Given the description of an element on the screen output the (x, y) to click on. 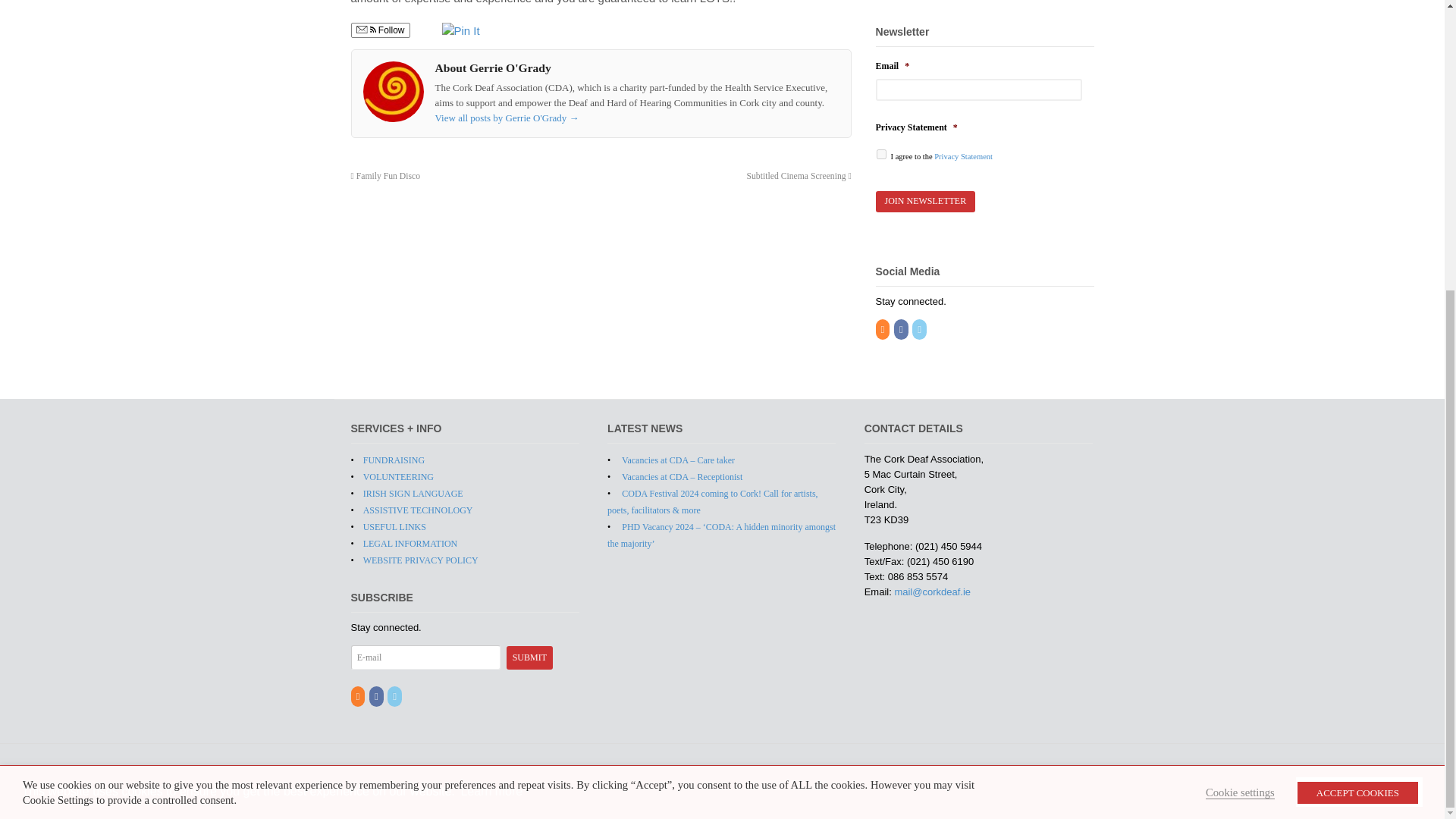
Family Fun Disco (385, 175)
Subtitled Cinema Screening (798, 175)
Follow (379, 29)
Learn more (491, 349)
Submit (529, 657)
RSS (883, 329)
Join Newsletter (925, 200)
E-mail (424, 657)
RSS (358, 696)
Facebook (377, 696)
Email, RSS (365, 30)
LinkedIn (920, 329)
Got it! (1358, 349)
LinkedIn (395, 696)
Facebook (901, 329)
